Given the description of an element on the screen output the (x, y) to click on. 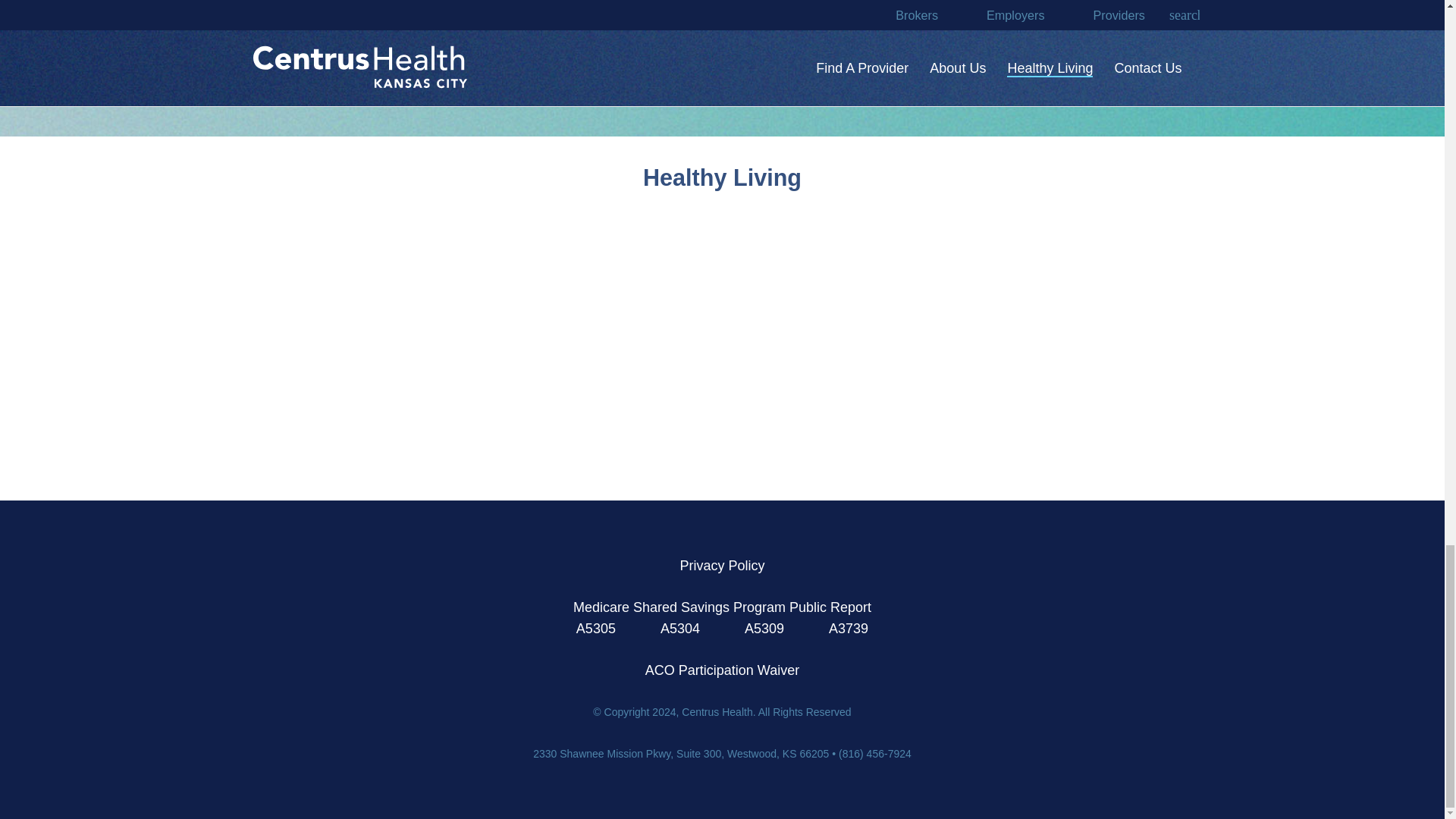
A3739 (847, 628)
Privacy Policy (721, 565)
A5304 (680, 628)
ACO Participation Waiver (722, 670)
A5309 (764, 628)
A5305 (598, 628)
